Given the description of an element on the screen output the (x, y) to click on. 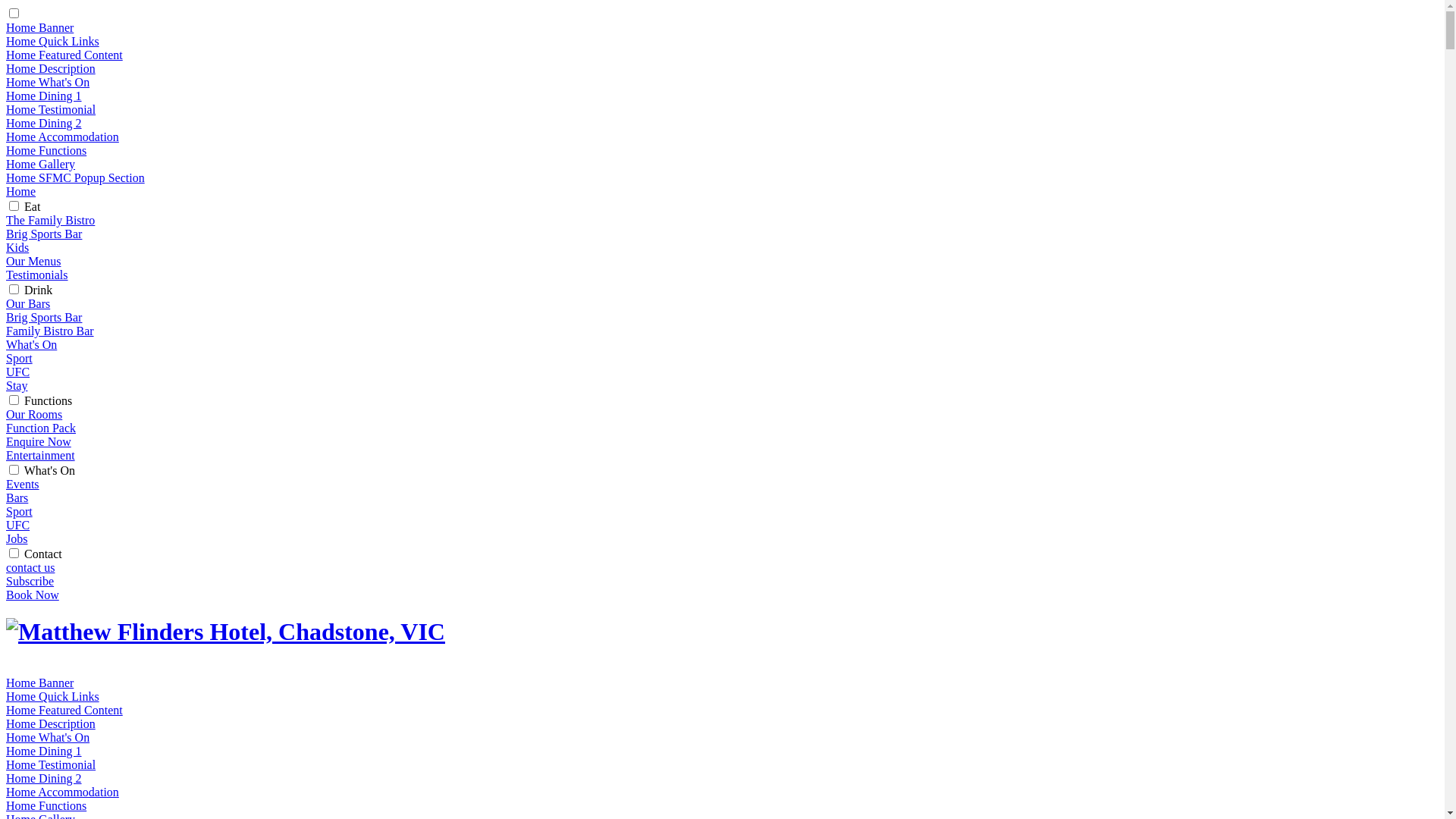
Jobs Element type: text (16, 538)
Kids Element type: text (17, 247)
Brig Sports Bar Element type: text (43, 233)
Functions Element type: text (48, 400)
Home Accommodation Element type: text (62, 136)
Brig Sports Bar Element type: text (43, 316)
Family Bistro Bar Element type: text (50, 330)
Home Featured Content Element type: text (64, 54)
Sport Element type: text (19, 357)
Home What's On Element type: text (47, 737)
What's On Element type: text (31, 344)
What's On Element type: text (49, 470)
Home SFMC Popup Section Element type: text (75, 177)
Home Accommodation Element type: text (62, 791)
Home Dining 2 Element type: text (43, 777)
Book Now Element type: text (32, 594)
Home Dining 1 Element type: text (43, 95)
Home Functions Element type: text (46, 150)
UFC Element type: text (17, 371)
Home Testimonial Element type: text (50, 764)
Stay Element type: text (16, 385)
Sport Element type: text (19, 511)
Function Pack Element type: text (40, 427)
Bars Element type: text (17, 497)
Drink Element type: text (38, 289)
The Family Bistro Element type: text (50, 219)
Home Description Element type: text (50, 723)
Home Dining 2 Element type: text (43, 122)
Events Element type: text (22, 483)
Home Functions Element type: text (46, 805)
Home Dining 1 Element type: text (43, 750)
Subscribe Element type: text (29, 580)
Entertainment Element type: text (40, 454)
Eat Element type: text (32, 206)
Home Banner Element type: text (39, 27)
Home What's On Element type: text (47, 81)
Enquire Now Element type: text (38, 441)
Our Bars Element type: text (28, 303)
Contact Element type: text (43, 553)
Home Quick Links Element type: text (52, 40)
Home Gallery Element type: text (40, 163)
UFC Element type: text (17, 524)
Home Element type: text (20, 191)
Home Banner Element type: text (39, 682)
Our Menus Element type: text (33, 260)
contact us Element type: text (30, 567)
Home Description Element type: text (50, 68)
Home Featured Content Element type: text (64, 709)
Home Testimonial Element type: text (50, 109)
Home Quick Links Element type: text (52, 696)
Our Rooms Element type: text (34, 413)
Testimonials Element type: text (37, 274)
